Given the description of an element on the screen output the (x, y) to click on. 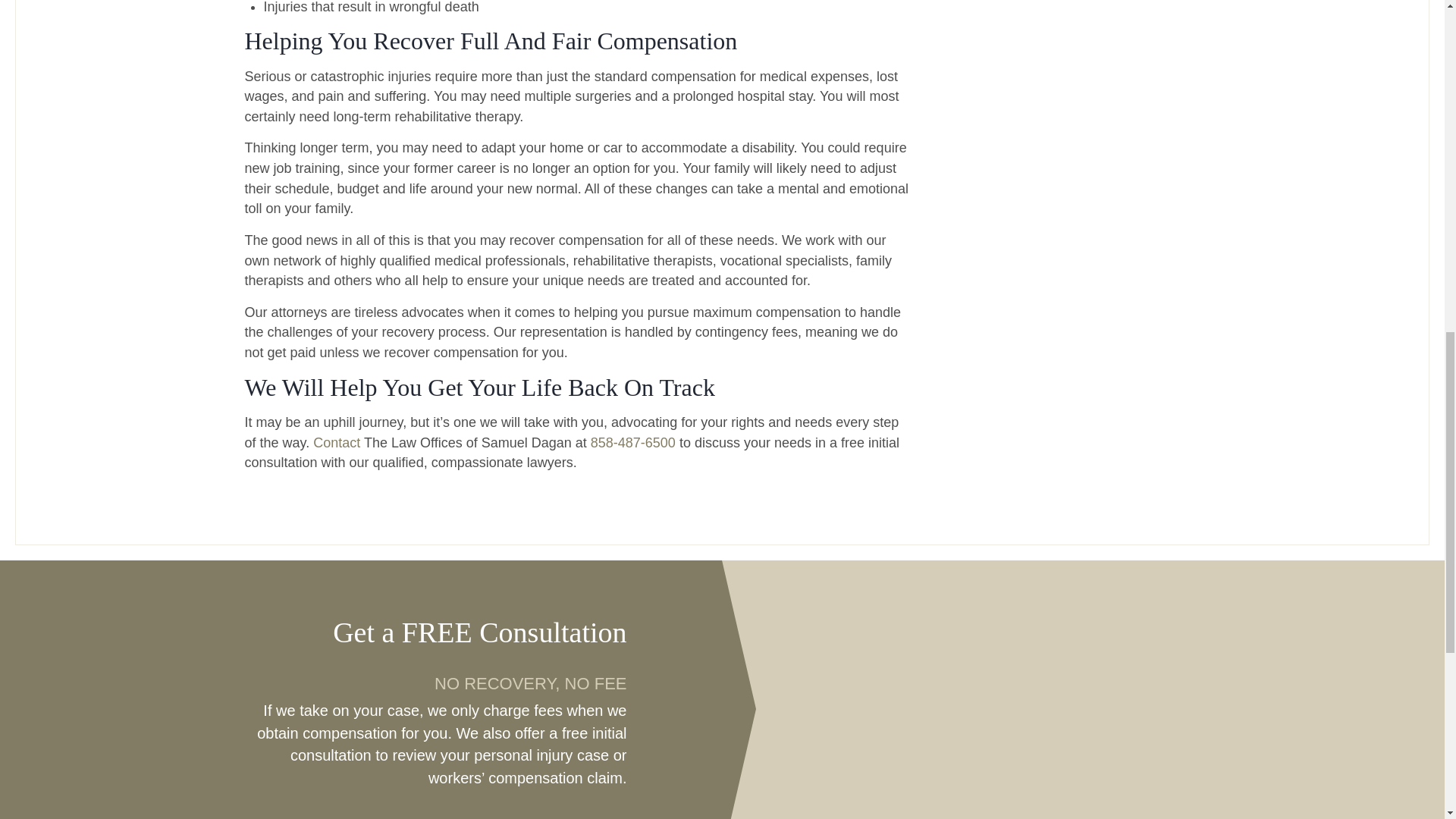
858-487-6500 (633, 442)
Contact (336, 442)
